Given the description of an element on the screen output the (x, y) to click on. 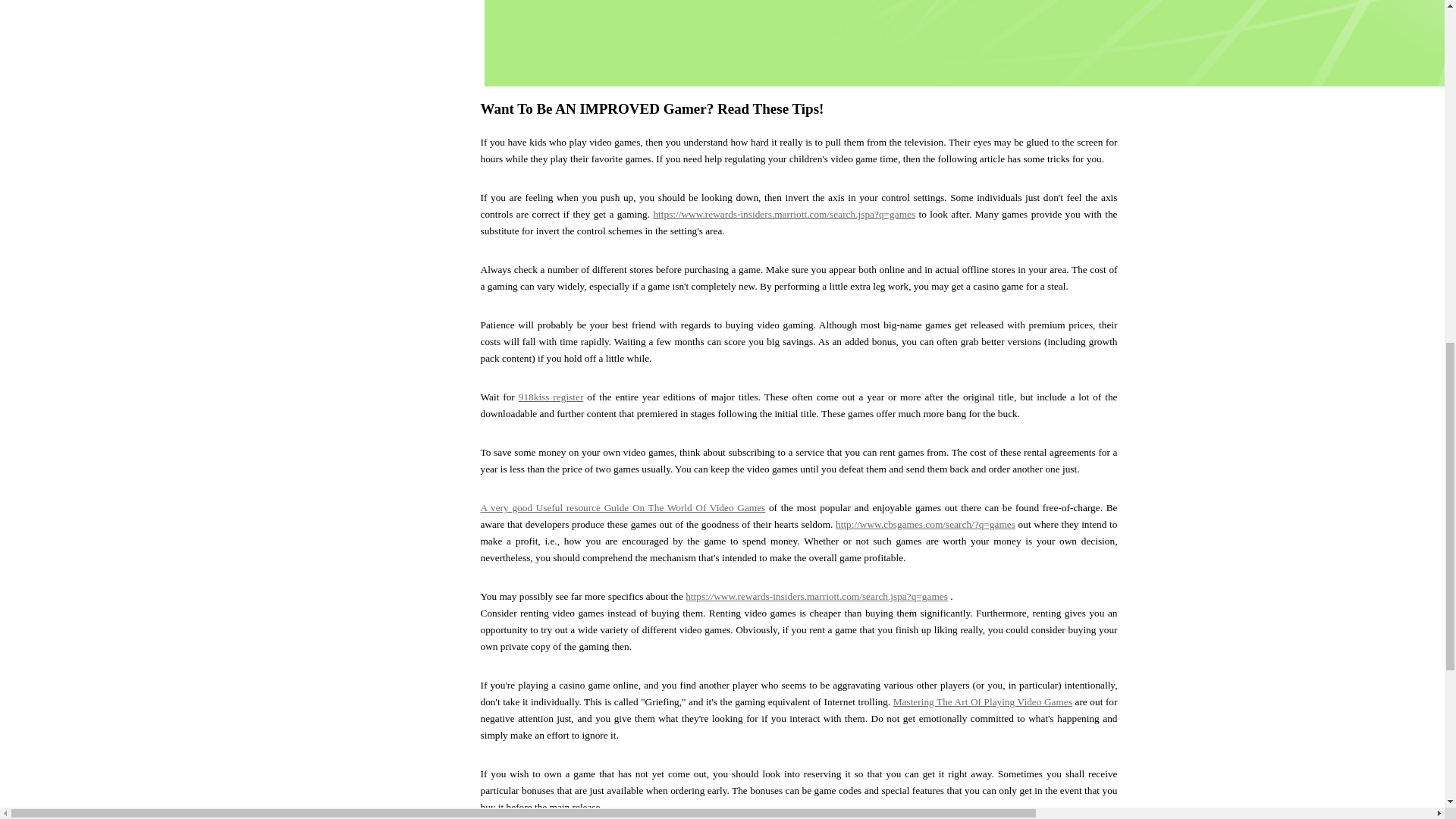
918kiss register (550, 396)
